Given the description of an element on the screen output the (x, y) to click on. 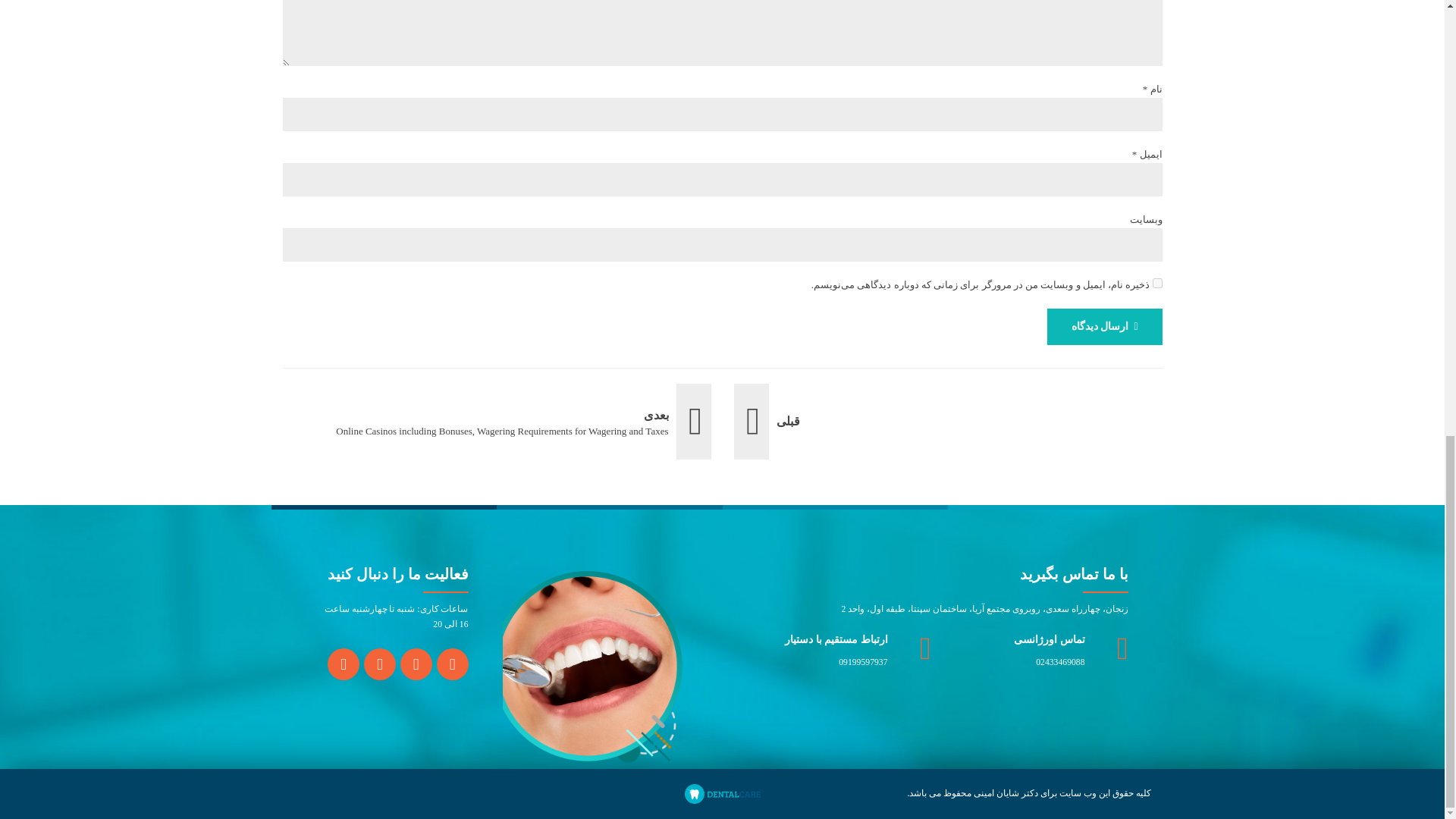
yes (1157, 283)
